Given the description of an element on the screen output the (x, y) to click on. 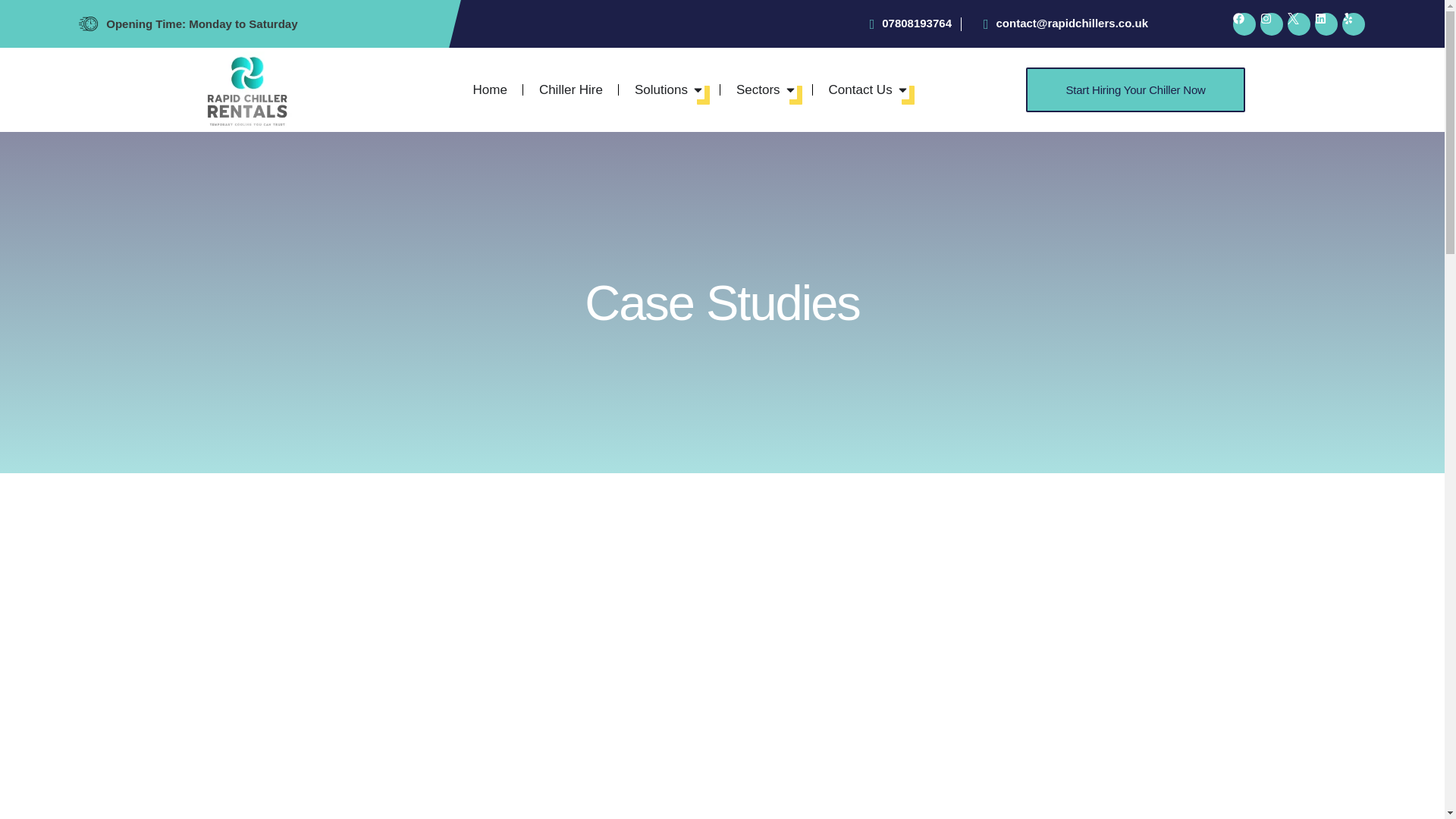
07808193764 (904, 24)
Chiller Hire (570, 89)
Solutions (660, 89)
Sectors (758, 89)
Home (489, 89)
Contact Us (860, 89)
